Given the description of an element on the screen output the (x, y) to click on. 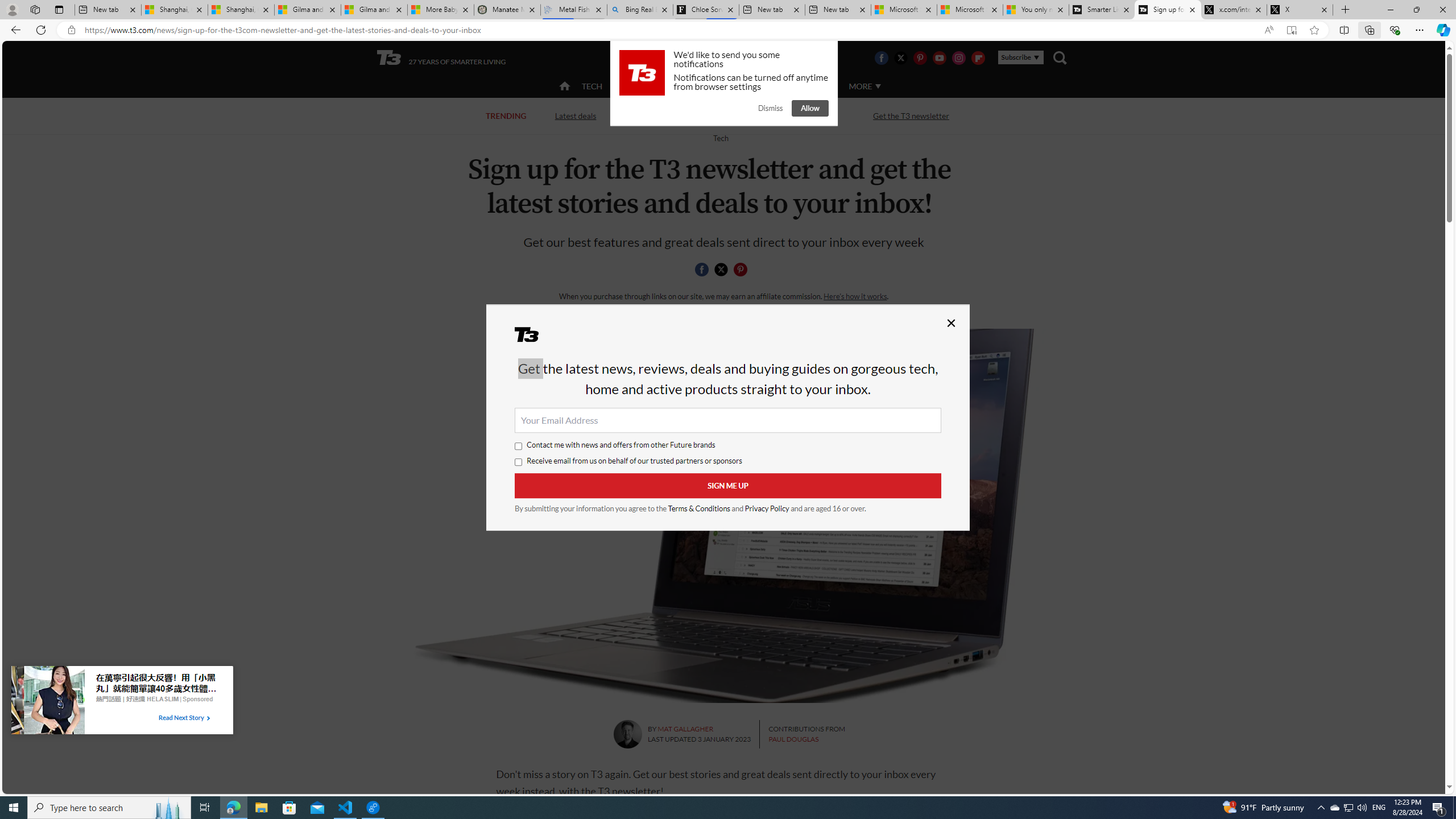
Visit us on Facebook (880, 57)
Gilma and Hector both pose tropical trouble for Hawaii (374, 9)
Share this page on Pintrest (739, 269)
Class: navigation__item (563, 86)
Streaming TV and movies (788, 115)
T3 27 YEARS OF SMARTER LIVING (441, 57)
Class: social__item (742, 271)
Shanghai, China weather forecast | Microsoft Weather (240, 9)
